Given the description of an element on the screen output the (x, y) to click on. 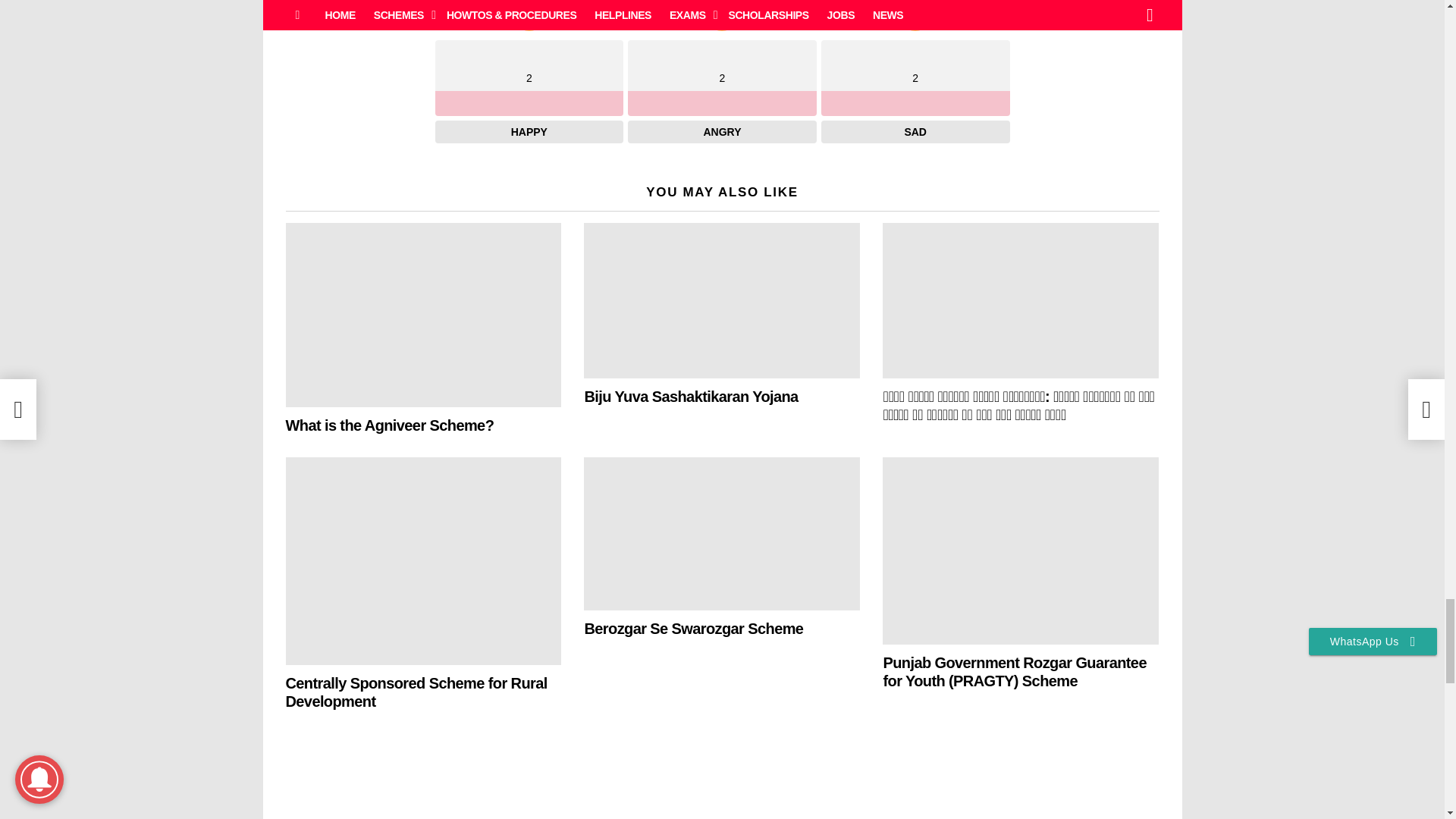
Centrally Sponsored Scheme for Rural Development (422, 560)
Biju Yuva Sashaktikaran Yojana (721, 300)
Berozgar Se Swarozgar Scheme (721, 533)
What is the Agniveer Scheme? (422, 314)
